Given the description of an element on the screen output the (x, y) to click on. 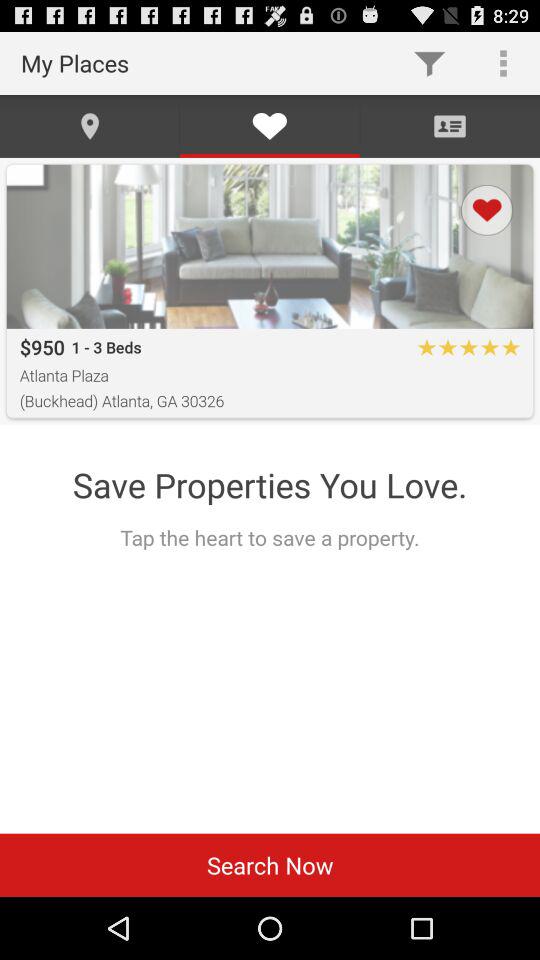
turn on the icon next to my places (429, 62)
